Given the description of an element on the screen output the (x, y) to click on. 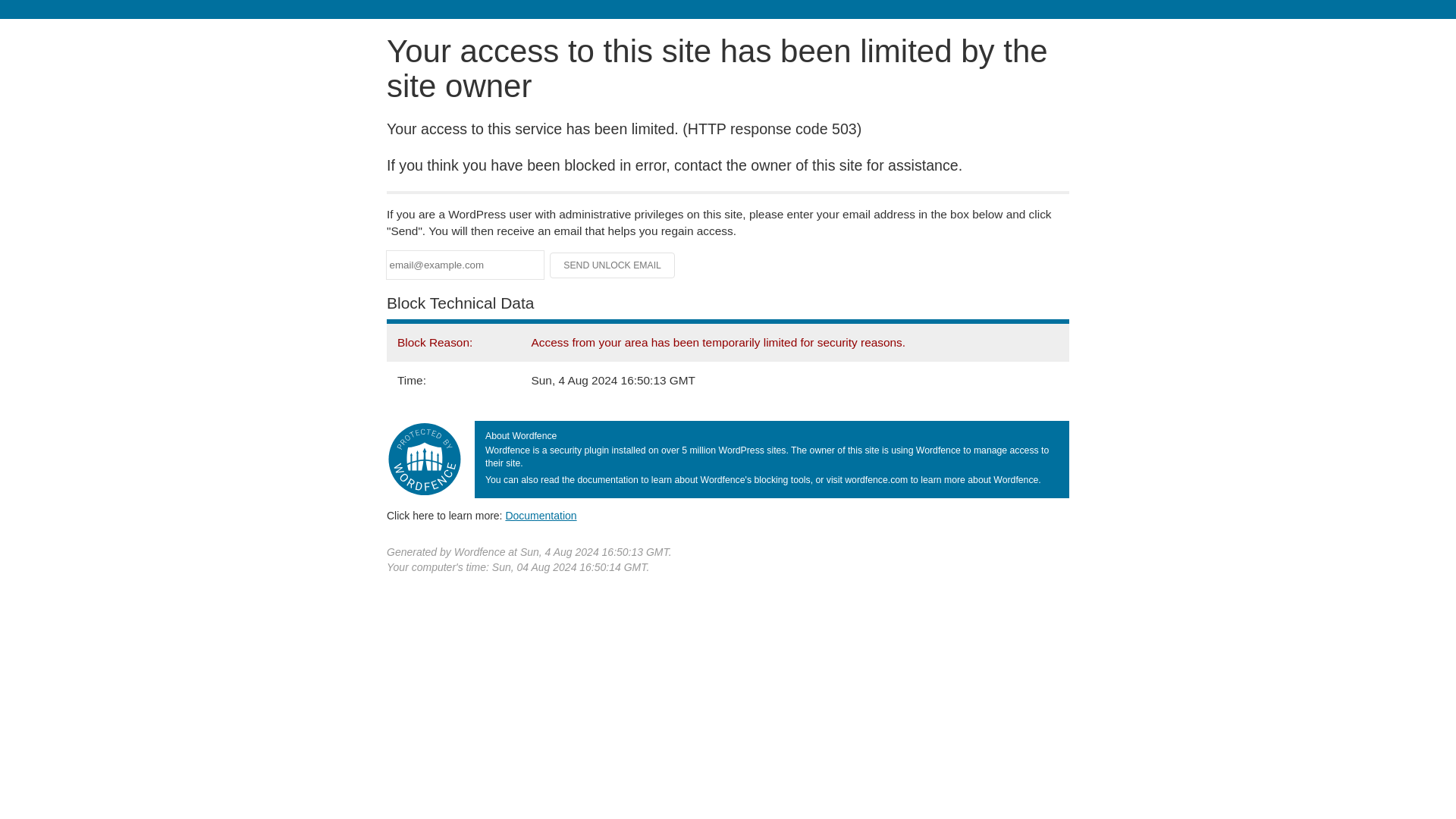
Send Unlock Email (612, 265)
Documentation (540, 515)
Send Unlock Email (612, 265)
